Given the description of an element on the screen output the (x, y) to click on. 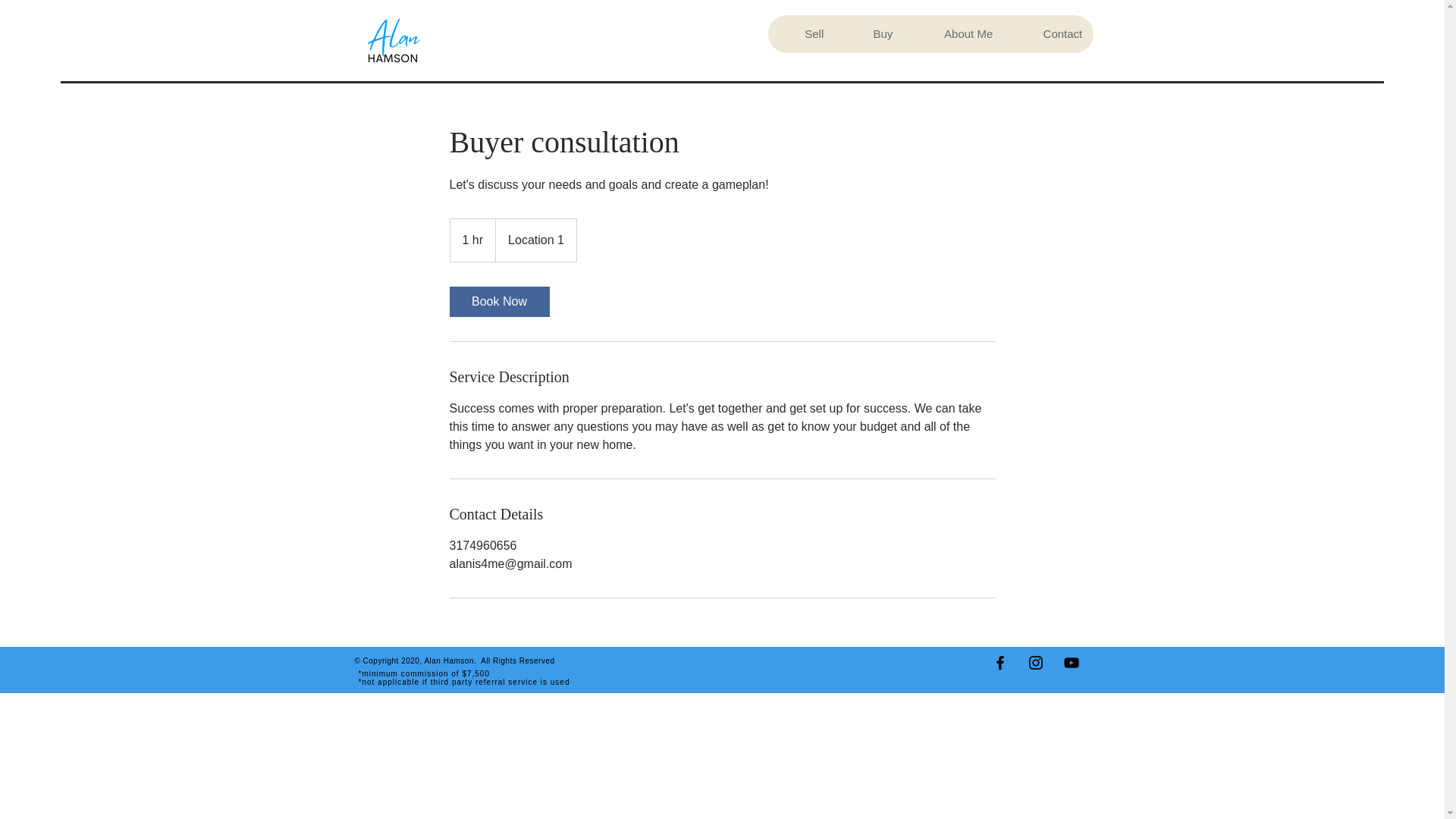
Buy (869, 34)
Contact (1048, 34)
Book Now (498, 301)
Sell (801, 34)
About Me (954, 34)
